Given the description of an element on the screen output the (x, y) to click on. 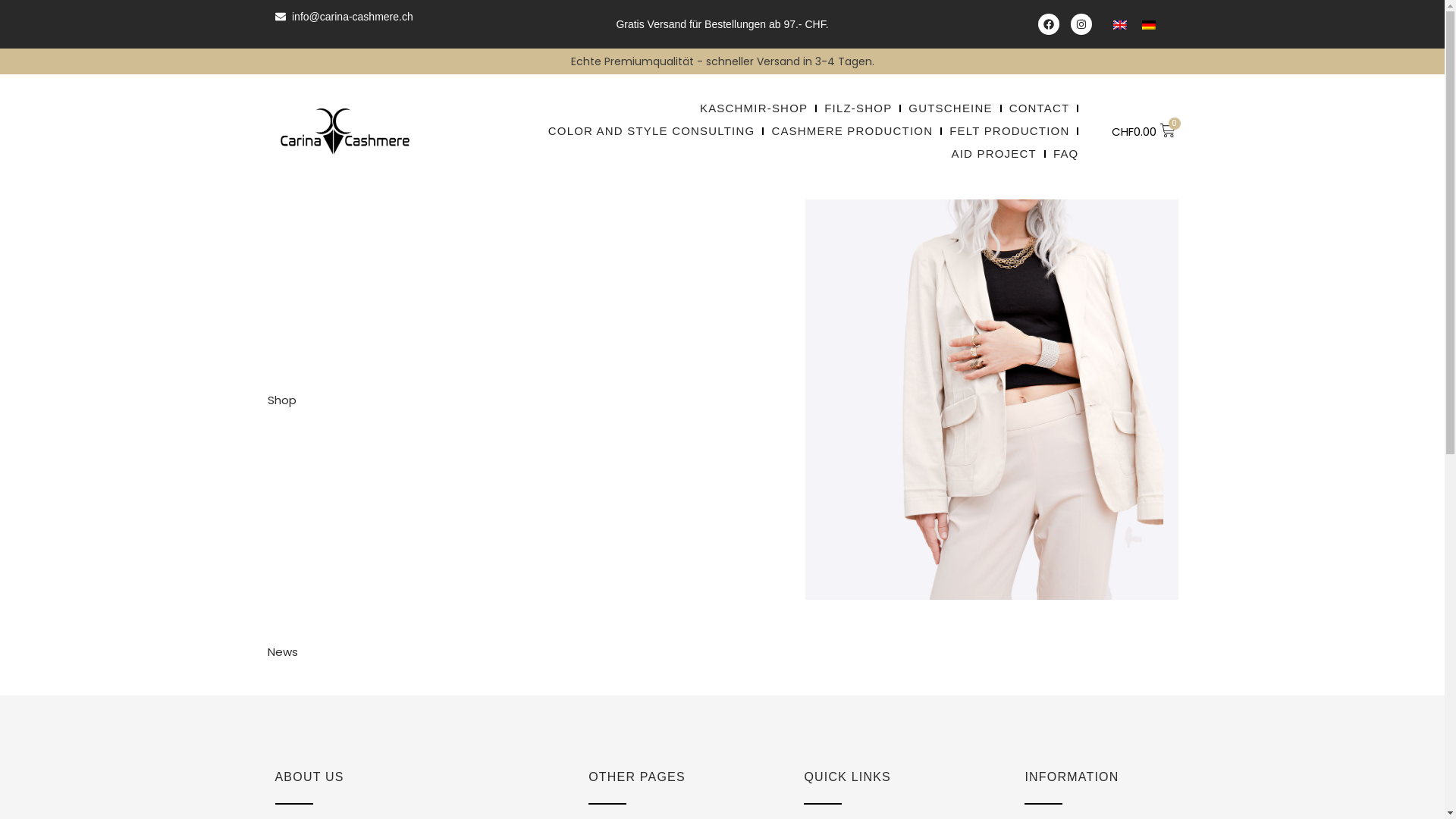
FAQ Element type: text (1066, 153)
GUTSCHEINE Element type: text (949, 108)
KASCHMIR-SHOP Element type: text (753, 108)
CASHMERE PRODUCTION Element type: text (851, 130)
Facebook Element type: text (1048, 23)
AID PROJECT Element type: text (992, 153)
FELT PRODUCTION Element type: text (1009, 130)
COLOR AND STYLE CONSULTING Element type: text (651, 130)
CHF0.00
0
Cart Element type: text (1143, 131)
FILZ-SHOP Element type: text (857, 108)
Instagram Element type: text (1081, 23)
CONTACT Element type: text (1039, 108)
